Given the description of an element on the screen output the (x, y) to click on. 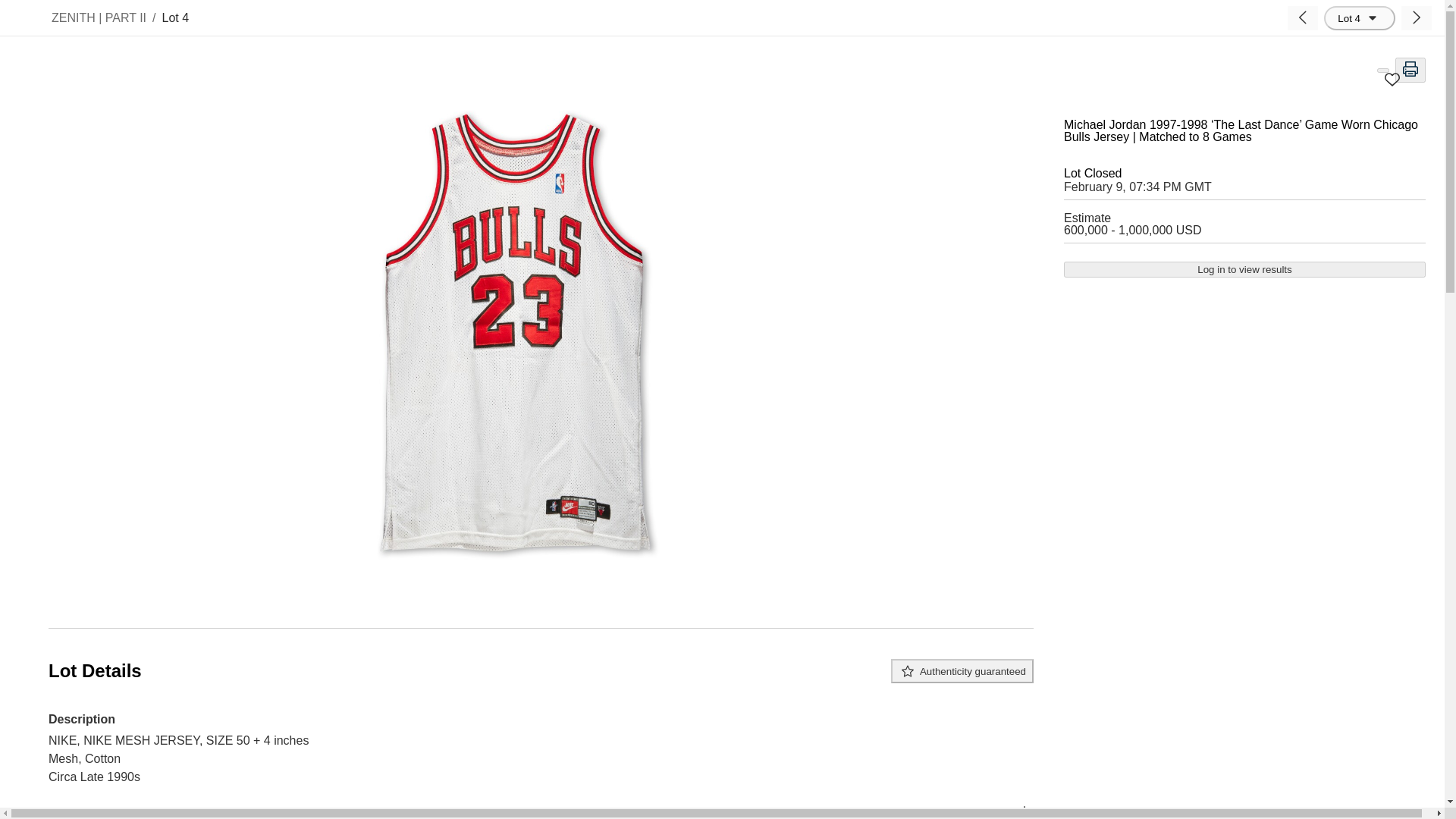
Log in to view results (1244, 269)
Lot 4 (1358, 17)
Condition Report (540, 808)
Authenticity guaranteed (962, 671)
